Given the description of an element on the screen output the (x, y) to click on. 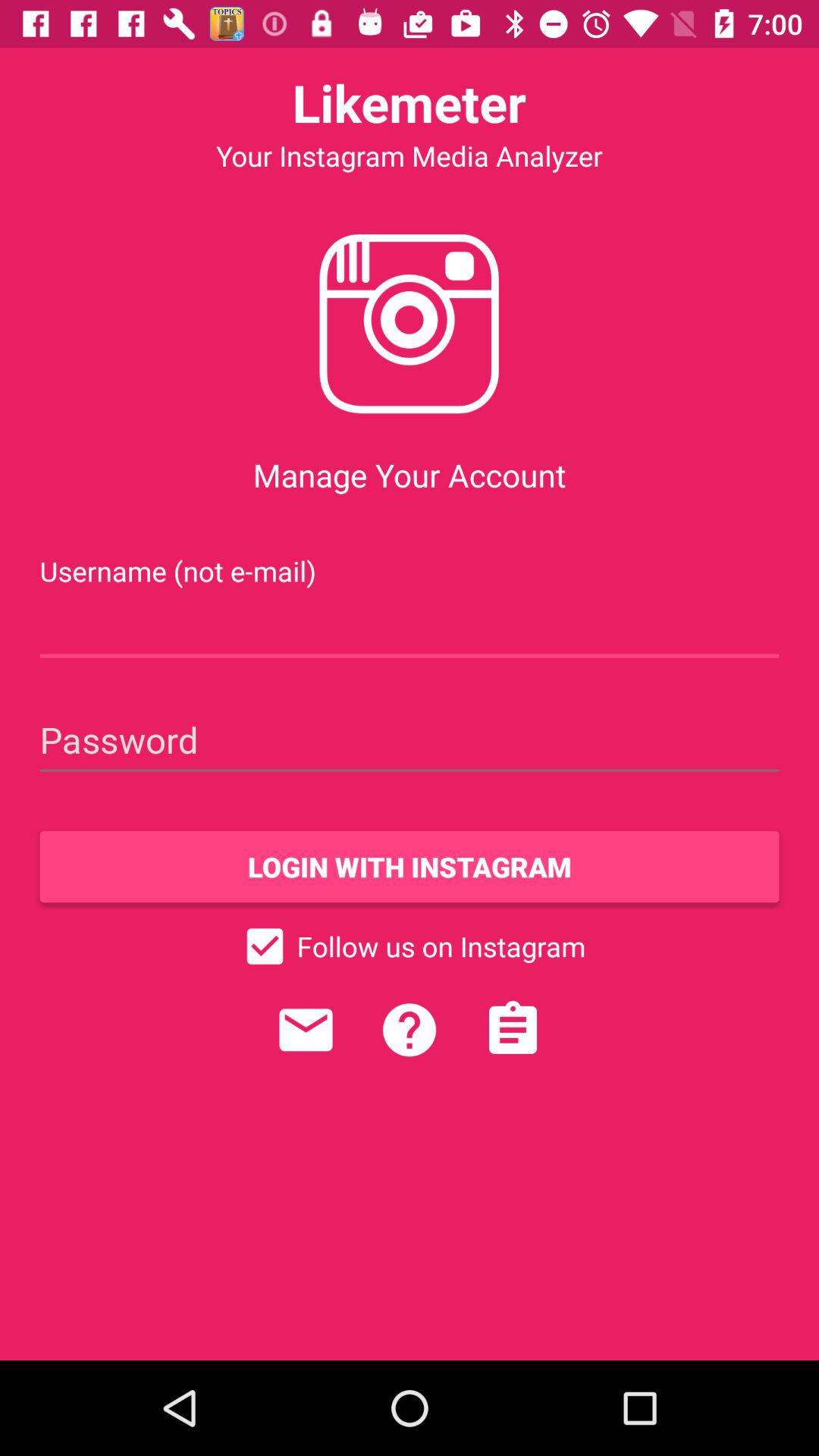
insert user name (409, 626)
